Given the description of an element on the screen output the (x, y) to click on. 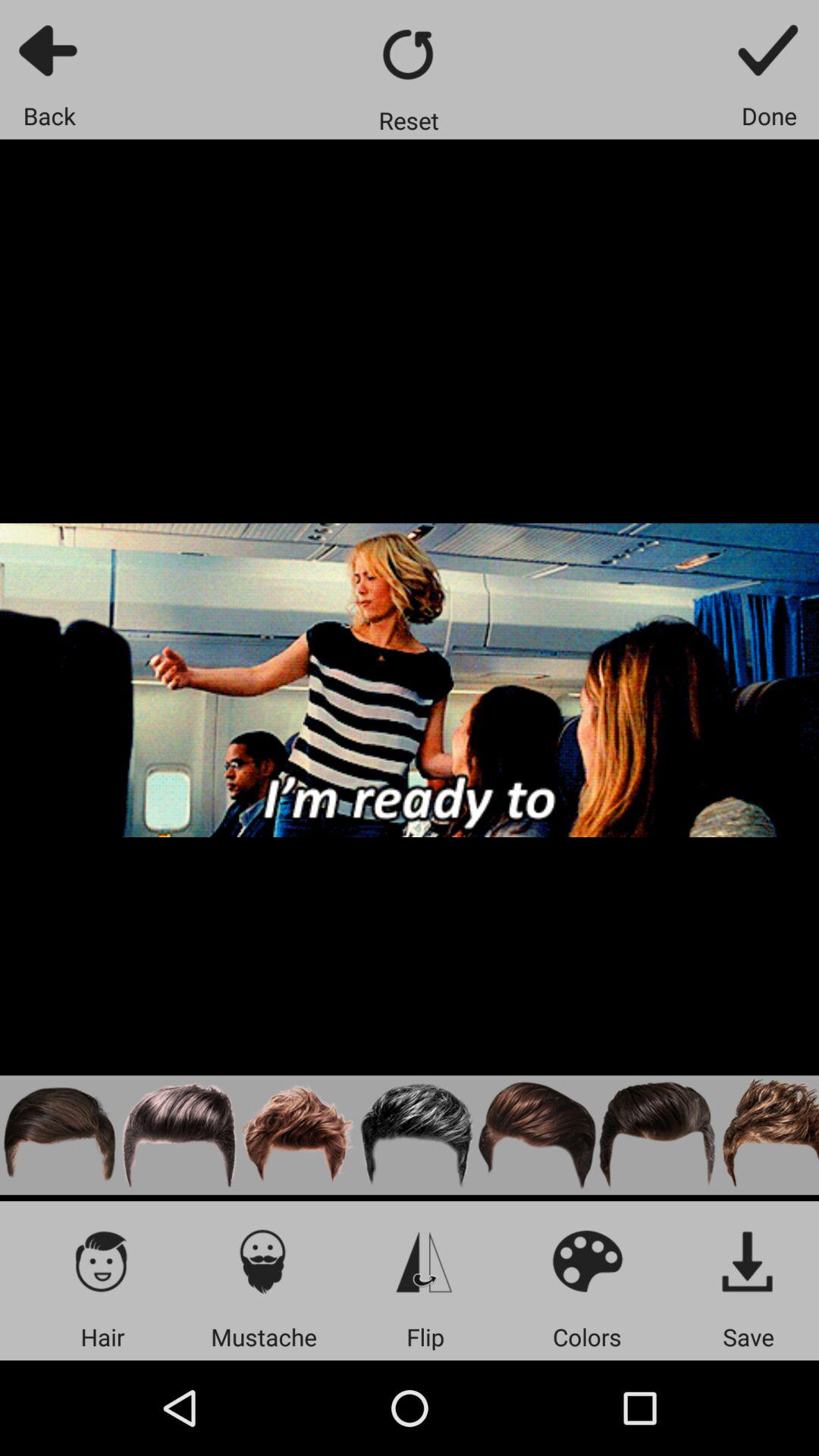
click on icon above hair (102, 1260)
click the colors icon (587, 1260)
select third hair style (298, 1135)
click on the  last image above save icon (767, 1135)
click the last but one hair style in right side bottom (656, 1135)
click on the third image from the right side bottom of the page (537, 1135)
